Given the description of an element on the screen output the (x, y) to click on. 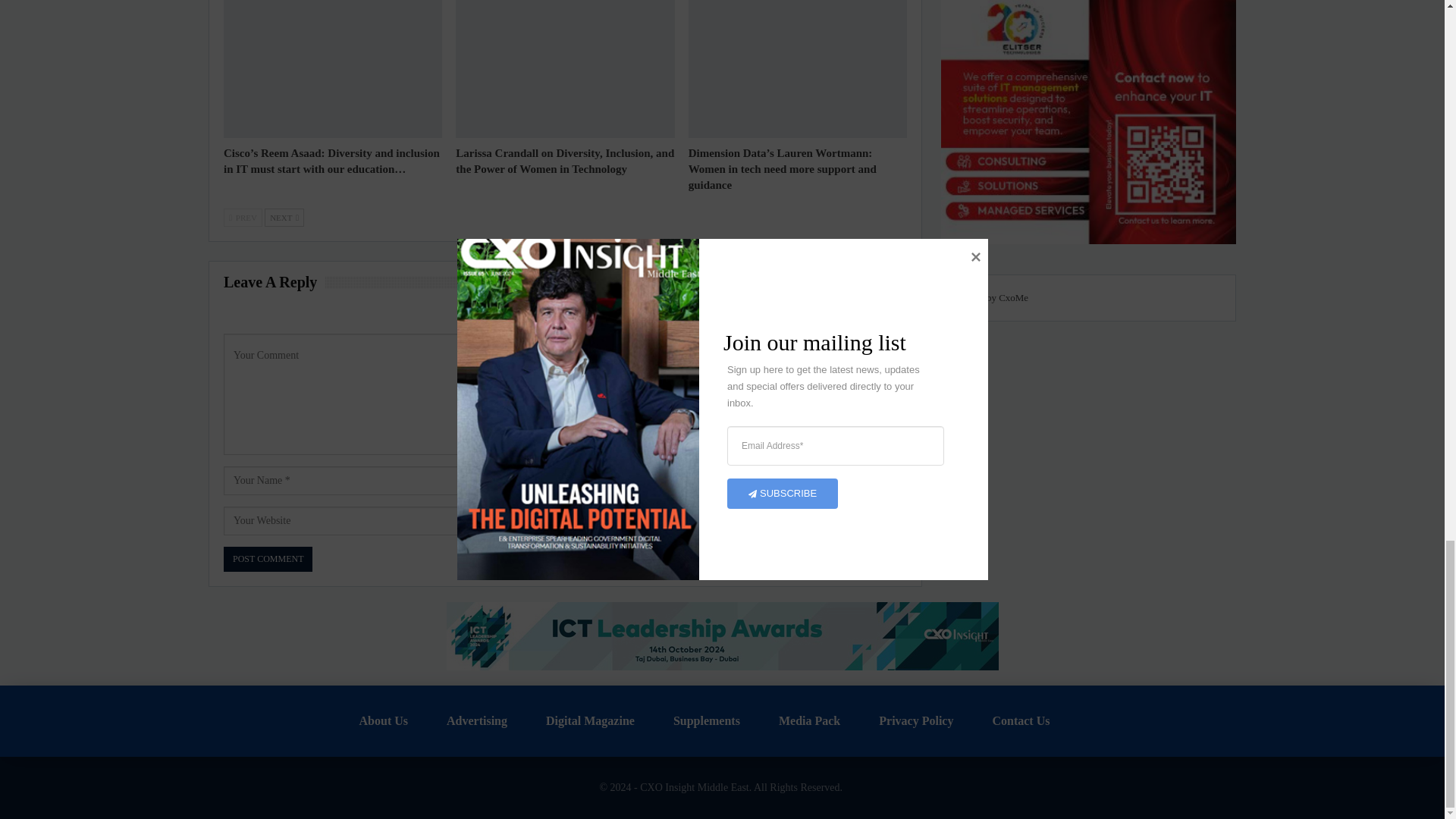
Post Comment (268, 559)
